Given the description of an element on the screen output the (x, y) to click on. 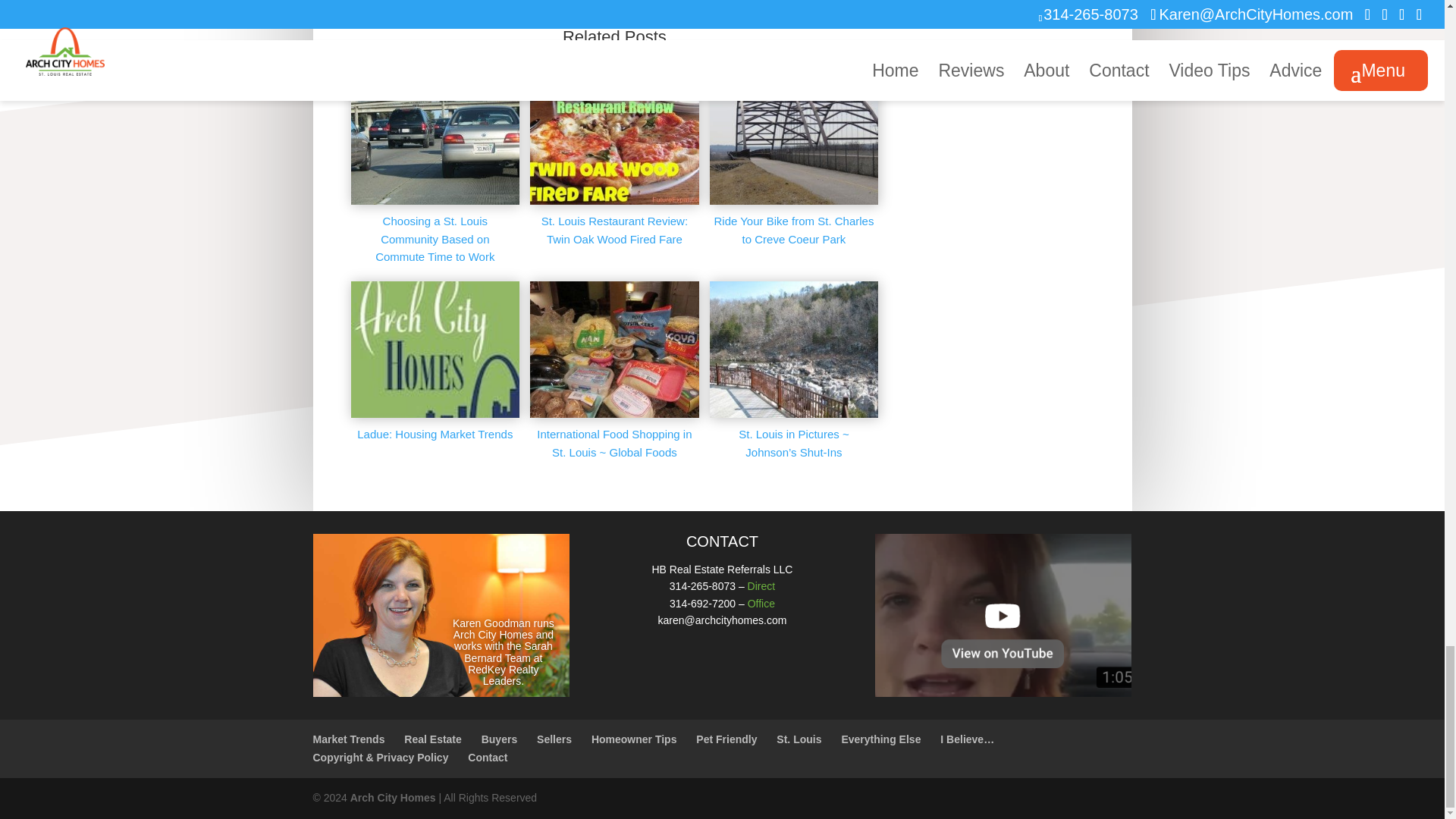
Arch City Homes (392, 797)
Get our articles delivered to your inbox (394, 1)
Read all of our articles in your RSS reader (466, 1)
